Given the description of an element on the screen output the (x, y) to click on. 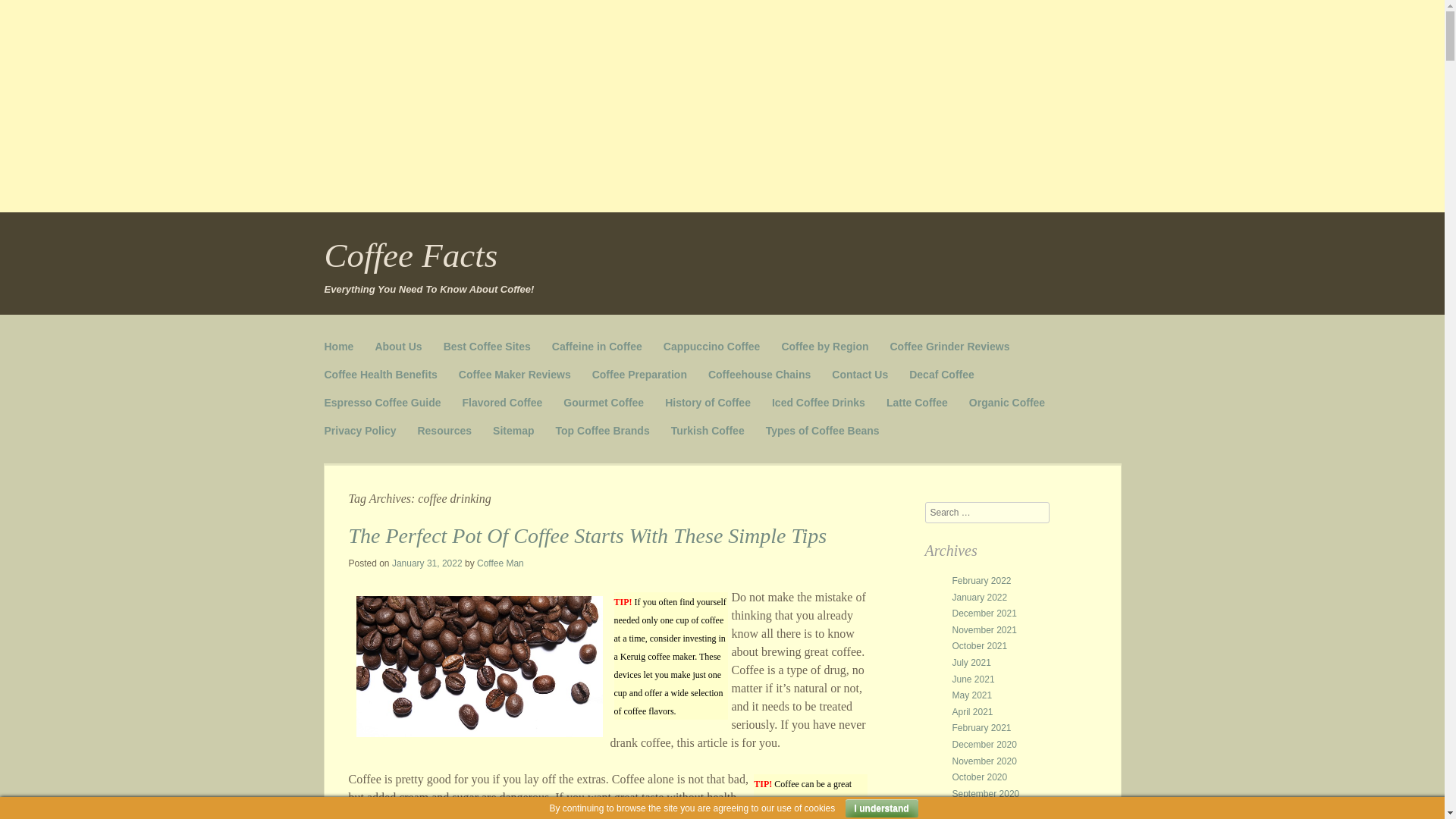
Coffee by Region (823, 346)
Skip to content (362, 340)
Best Coffee Sites (487, 346)
Coffee Grinder Reviews (949, 346)
Coffee Facts (410, 255)
View all posts by Coffee Man (500, 562)
Permalink (588, 535)
About Us (398, 346)
Cappuccino Coffee (711, 346)
Coffee Facts (410, 255)
11:45 pm (427, 562)
Home (338, 346)
Caffeine in Coffee (596, 346)
Skip to content (362, 340)
